Given the description of an element on the screen output the (x, y) to click on. 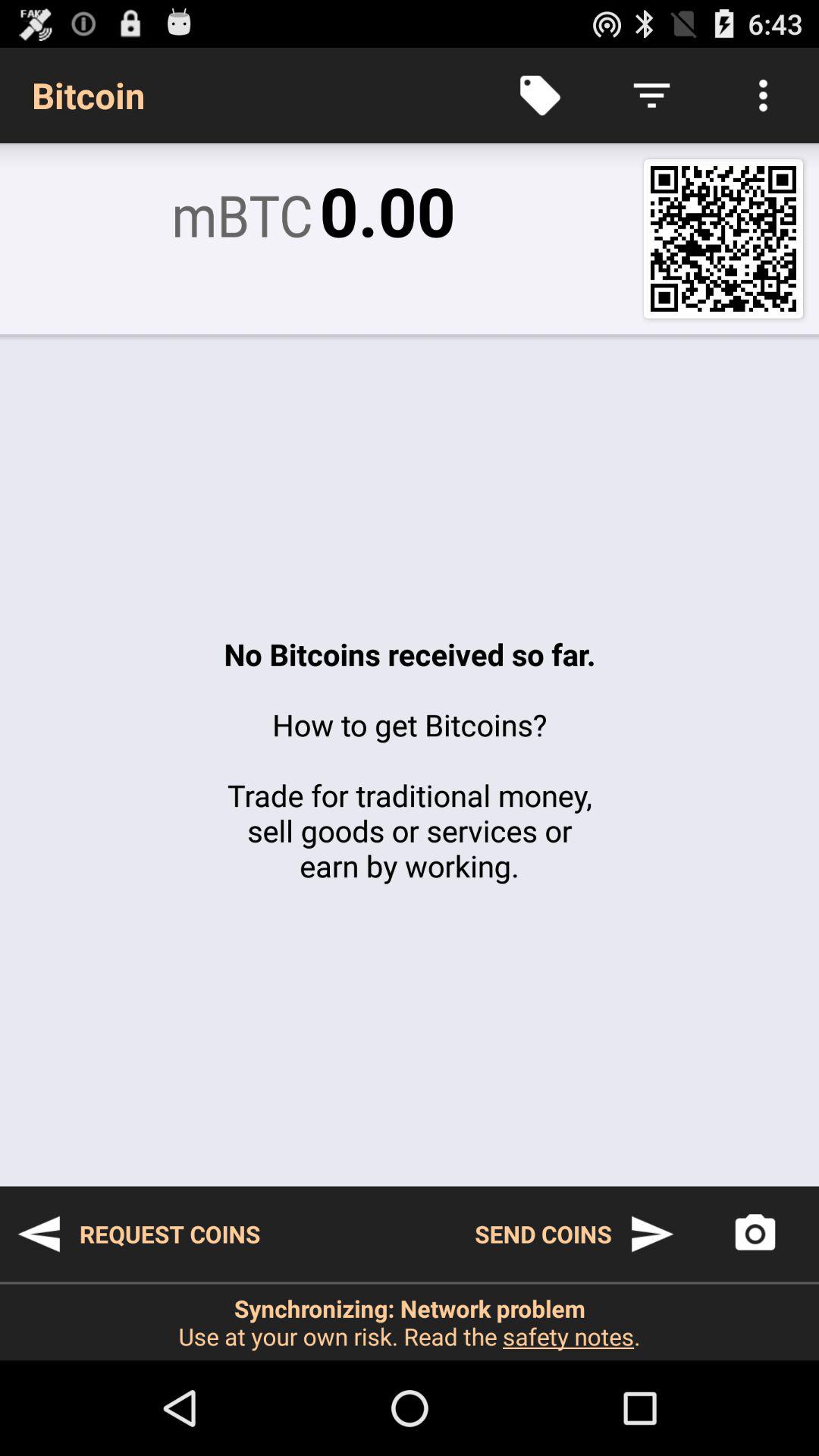
open icon to the left of the send coins item (138, 1233)
